Given the description of an element on the screen output the (x, y) to click on. 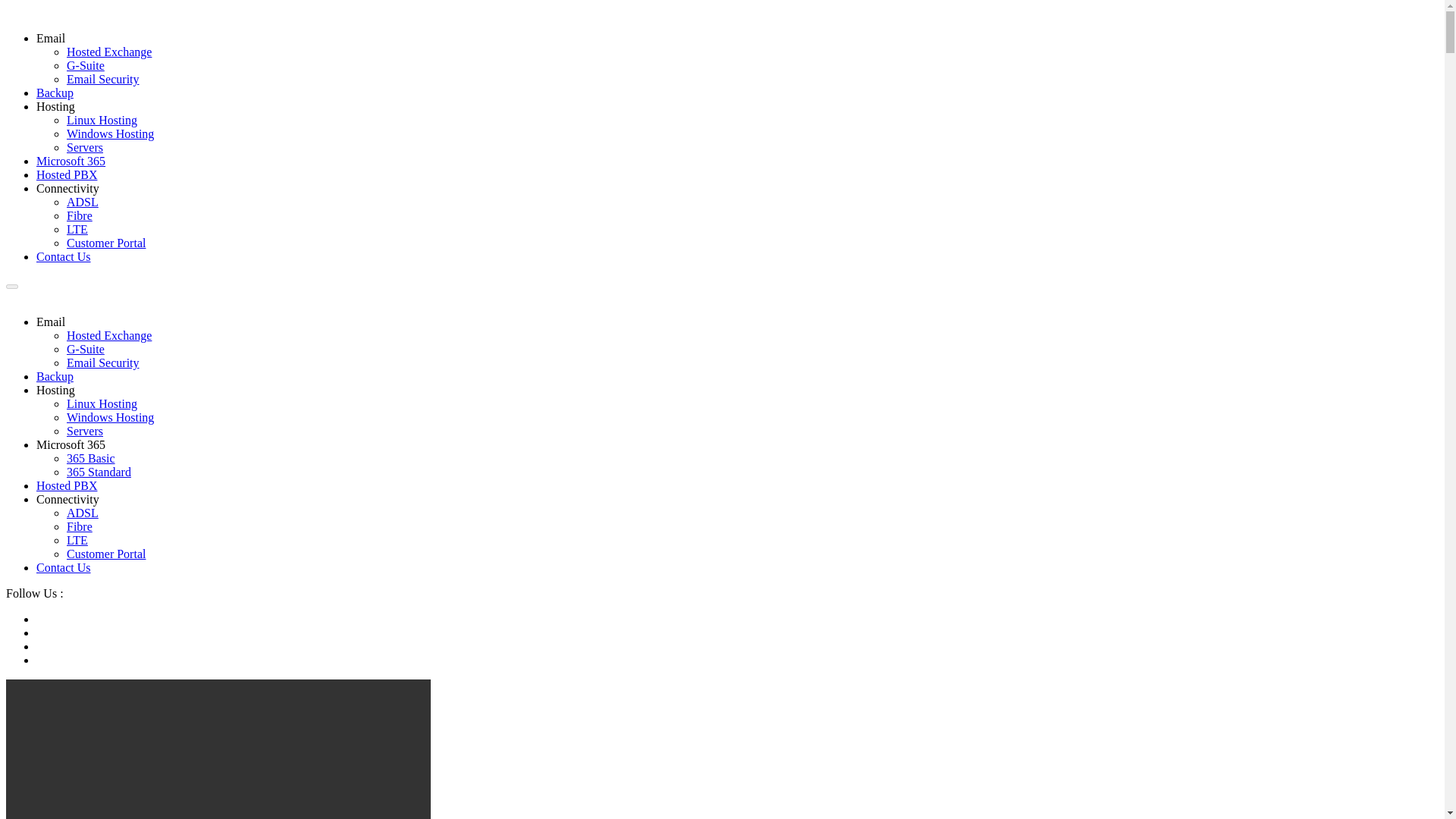
ADSL (82, 512)
Servers (84, 431)
Hosted Exchange (108, 335)
365 Standard (98, 472)
G-Suite (85, 65)
365 Basic (90, 458)
Backup (55, 376)
Hosted Exchange (108, 51)
Fibre (79, 215)
Contact Us (63, 256)
Microsoft 365 (70, 444)
Email (50, 38)
Connectivity (67, 187)
Customer Portal (105, 242)
G-Suite (85, 349)
